Given the description of an element on the screen output the (x, y) to click on. 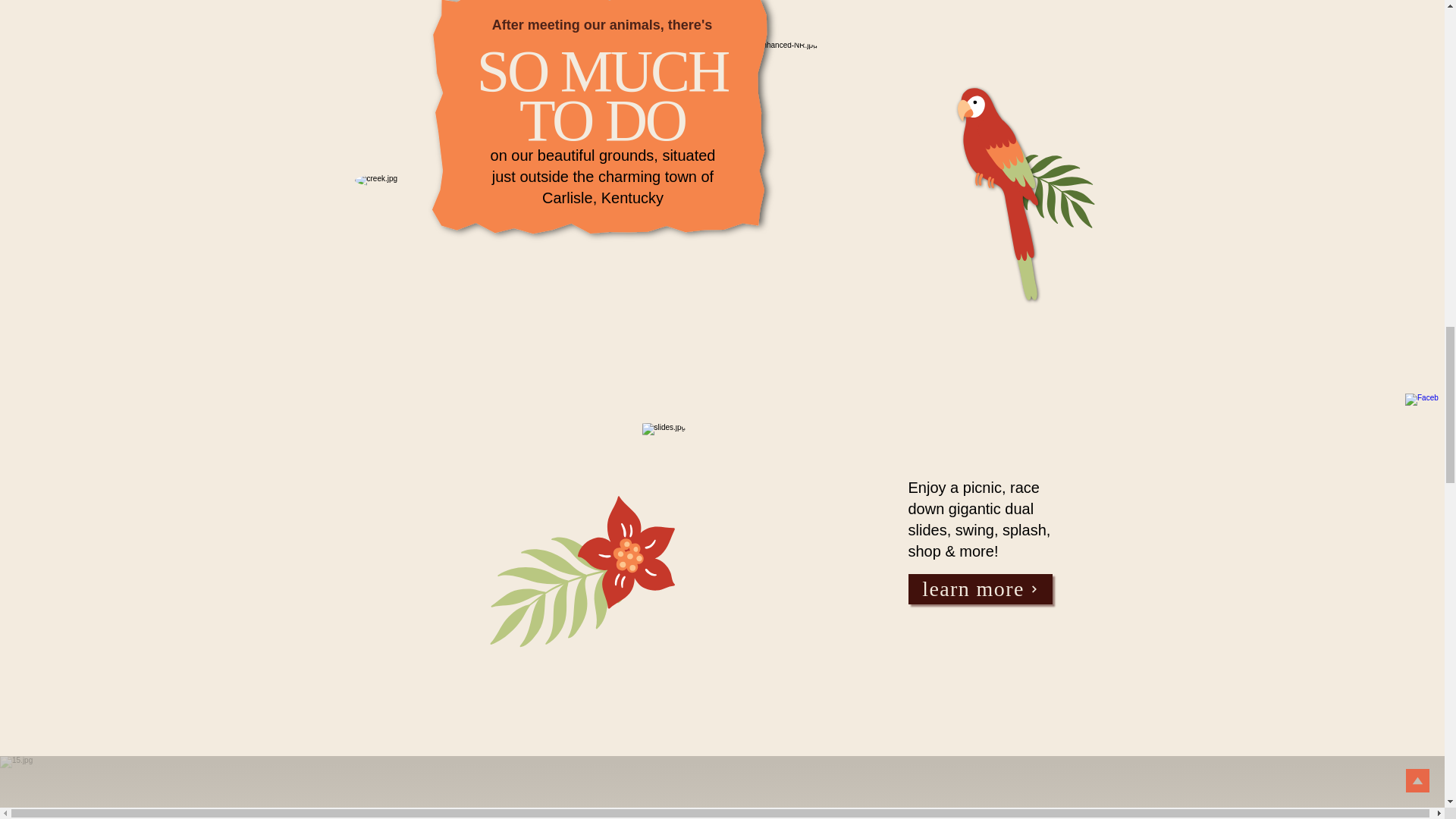
learn more (980, 589)
